Given the description of an element on the screen output the (x, y) to click on. 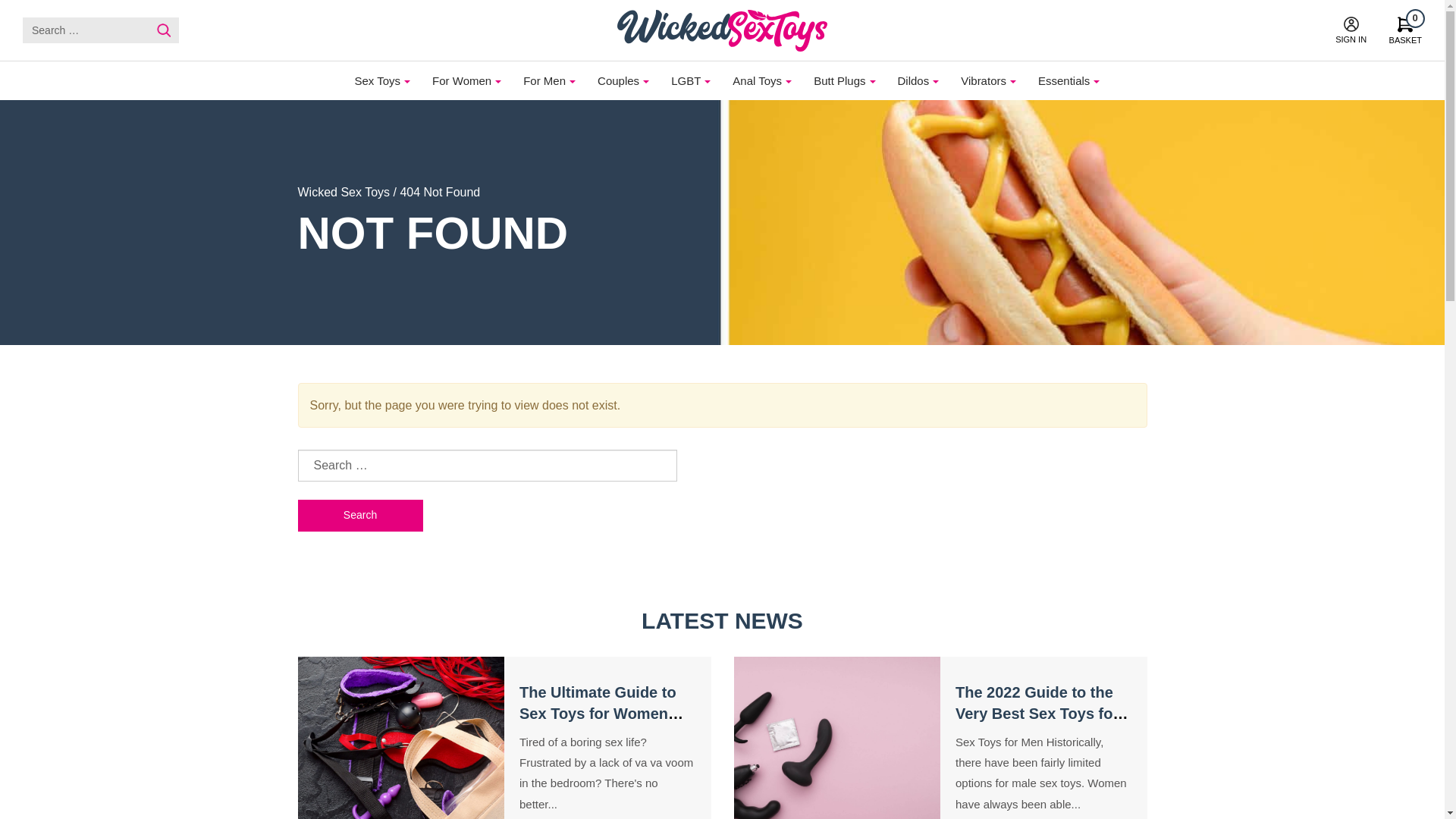
SIGN IN (1351, 30)
Search (359, 515)
Search (359, 515)
For Women (461, 80)
Search (1405, 30)
Search (163, 29)
Anal Toys (163, 29)
For Men (756, 80)
LGBT (544, 80)
Sex Toys (685, 80)
Couples (377, 80)
Search (618, 80)
Wicked Sex Toys (163, 29)
LATEST NEWS (343, 192)
